Given the description of an element on the screen output the (x, y) to click on. 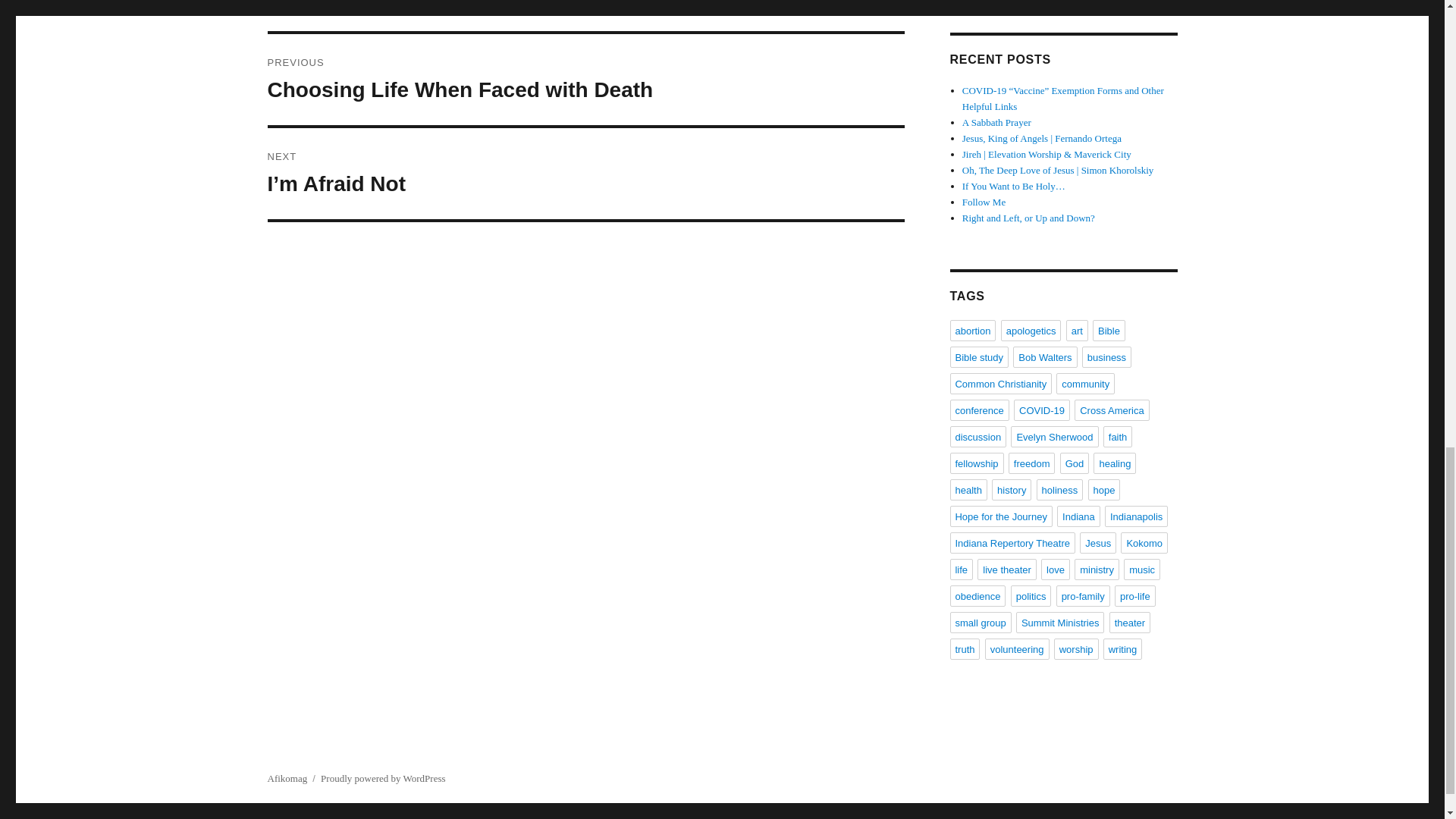
apologetics (1031, 330)
Right and Left, or Up and Down? (1028, 217)
A Sabbath Prayer (585, 79)
Follow Me (996, 122)
abortion (984, 202)
